Given the description of an element on the screen output the (x, y) to click on. 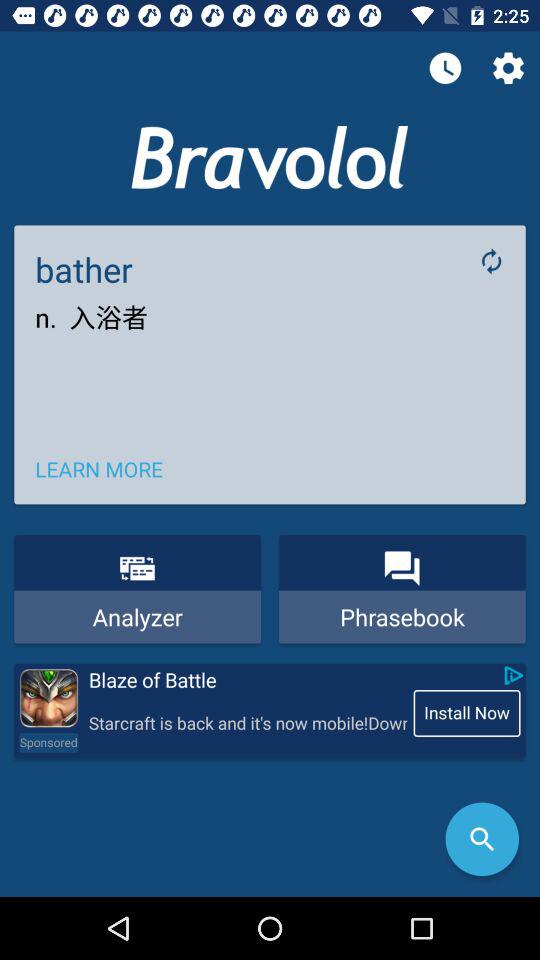
search (482, 839)
